Given the description of an element on the screen output the (x, y) to click on. 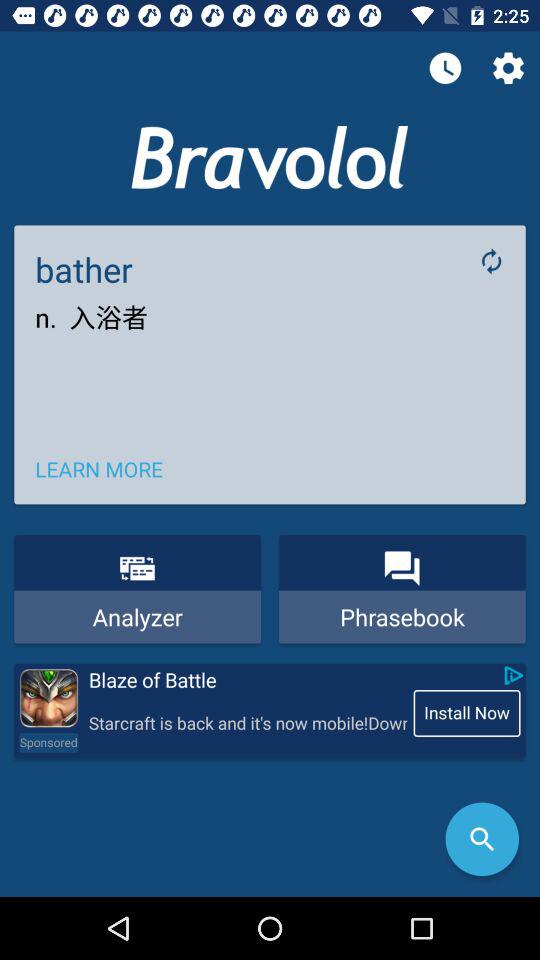
search (482, 839)
